Given the description of an element on the screen output the (x, y) to click on. 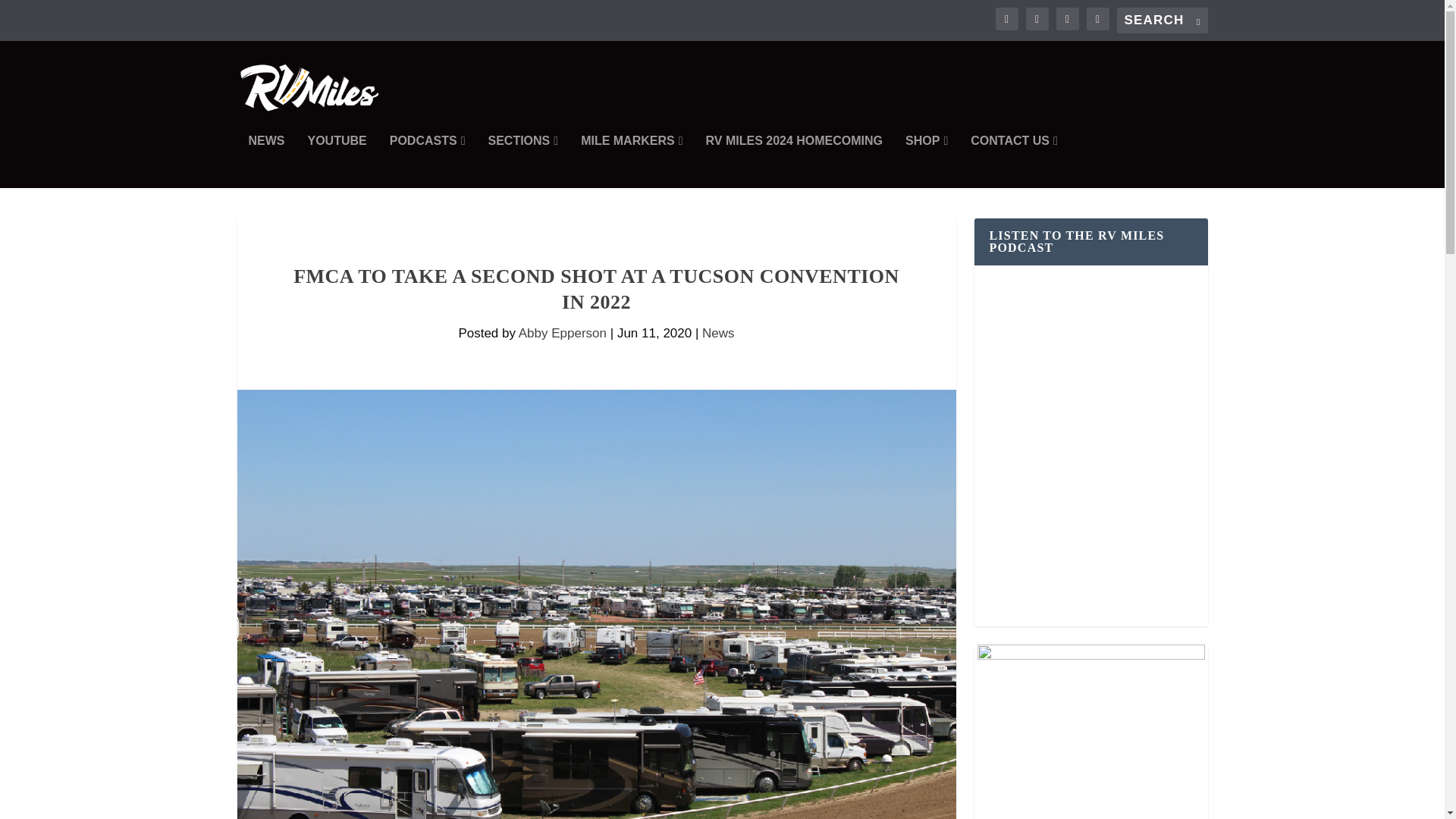
Posts by Abby Epperson (562, 332)
SECTIONS (522, 161)
News (718, 332)
PODCASTS (427, 161)
Search for: (1161, 20)
Abby Epperson (562, 332)
RV MILES 2024 HOMECOMING (794, 161)
MILE MARKERS (631, 161)
CONTACT US (1014, 161)
YOUTUBE (336, 161)
